Given the description of an element on the screen output the (x, y) to click on. 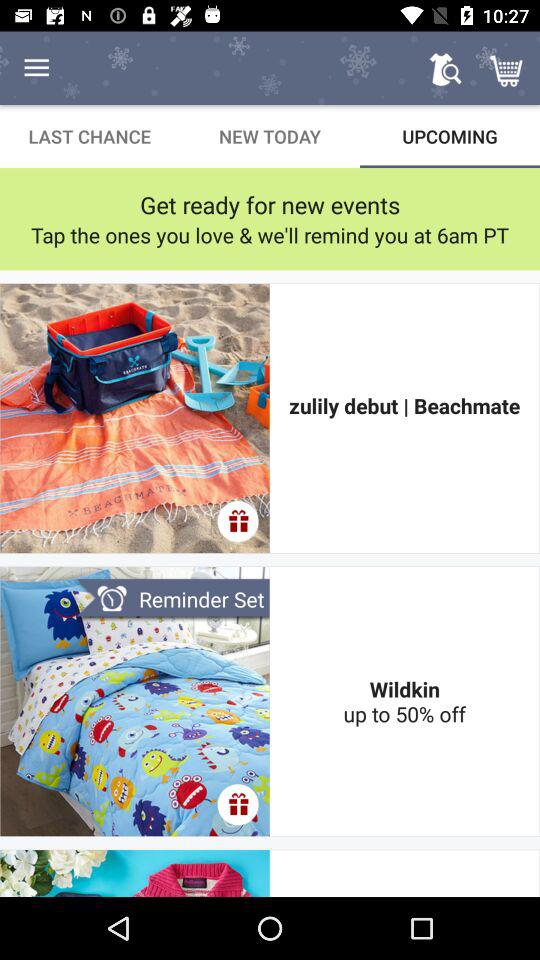
choose item on the right (404, 418)
